Given the description of an element on the screen output the (x, y) to click on. 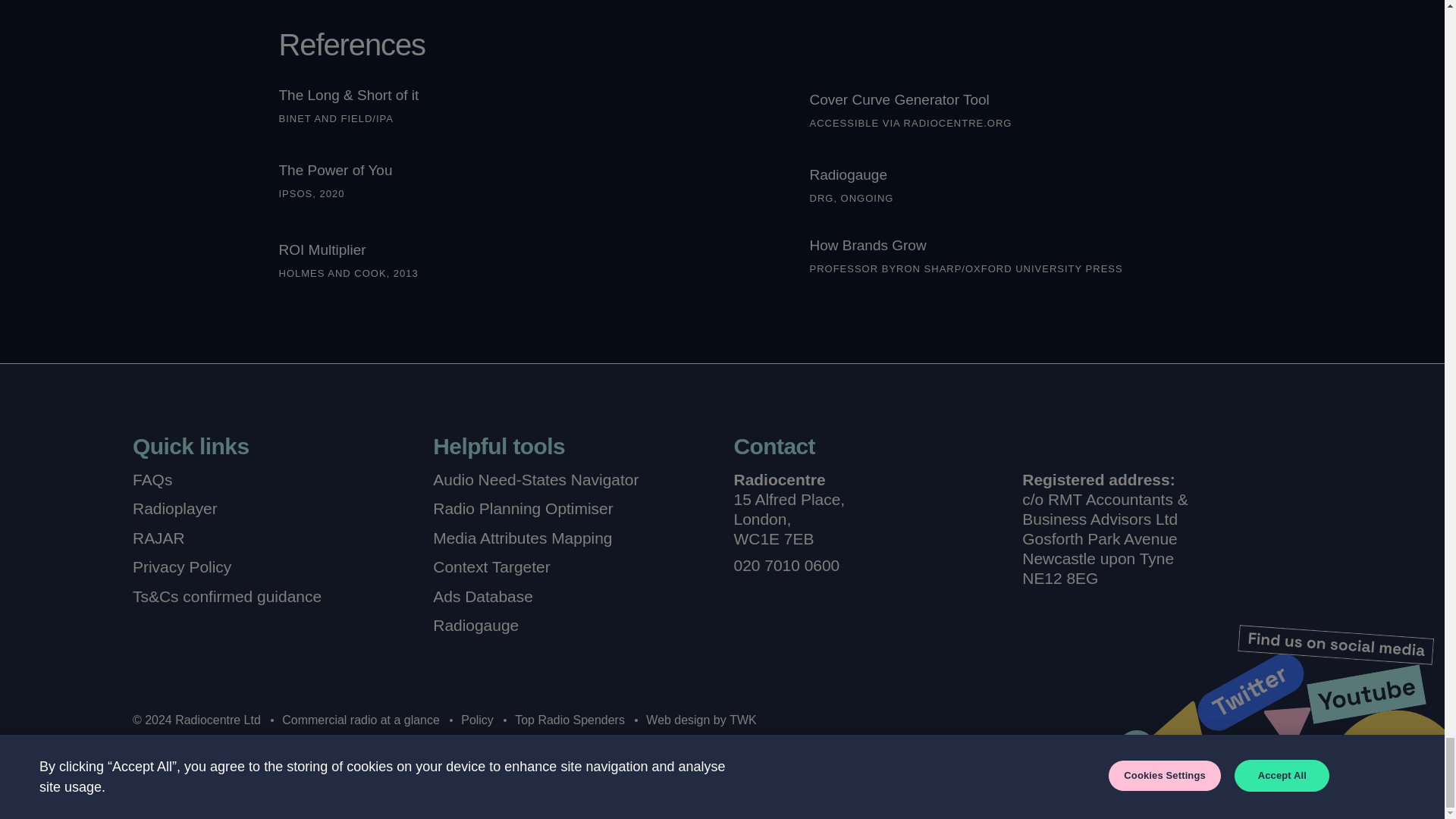
C2F5B8FD-C8C9-48EA-A425-EBAC579F8952 (1136, 749)
50AFECBC-9D58-4F7A-8CD0-0E8872E71F33 (1260, 771)
triangle-pink (1186, 736)
38519FEF-0C09-4037-8408-D1B90BF5C610 (1366, 693)
8A961C9F-AFE5-4589-A4EC-572FB1187056 (1250, 692)
2446A07A-F4AF-455F-B66E-FA7E08FD59CE (1102, 779)
BF2156B2-98EB-40D0-9B53-338B38A00621 (1173, 781)
ED06FEC1-C76C-4398-A613-C53CE2A63DE0 (1335, 644)
triangle-pink (1286, 728)
